Given the description of an element on the screen output the (x, y) to click on. 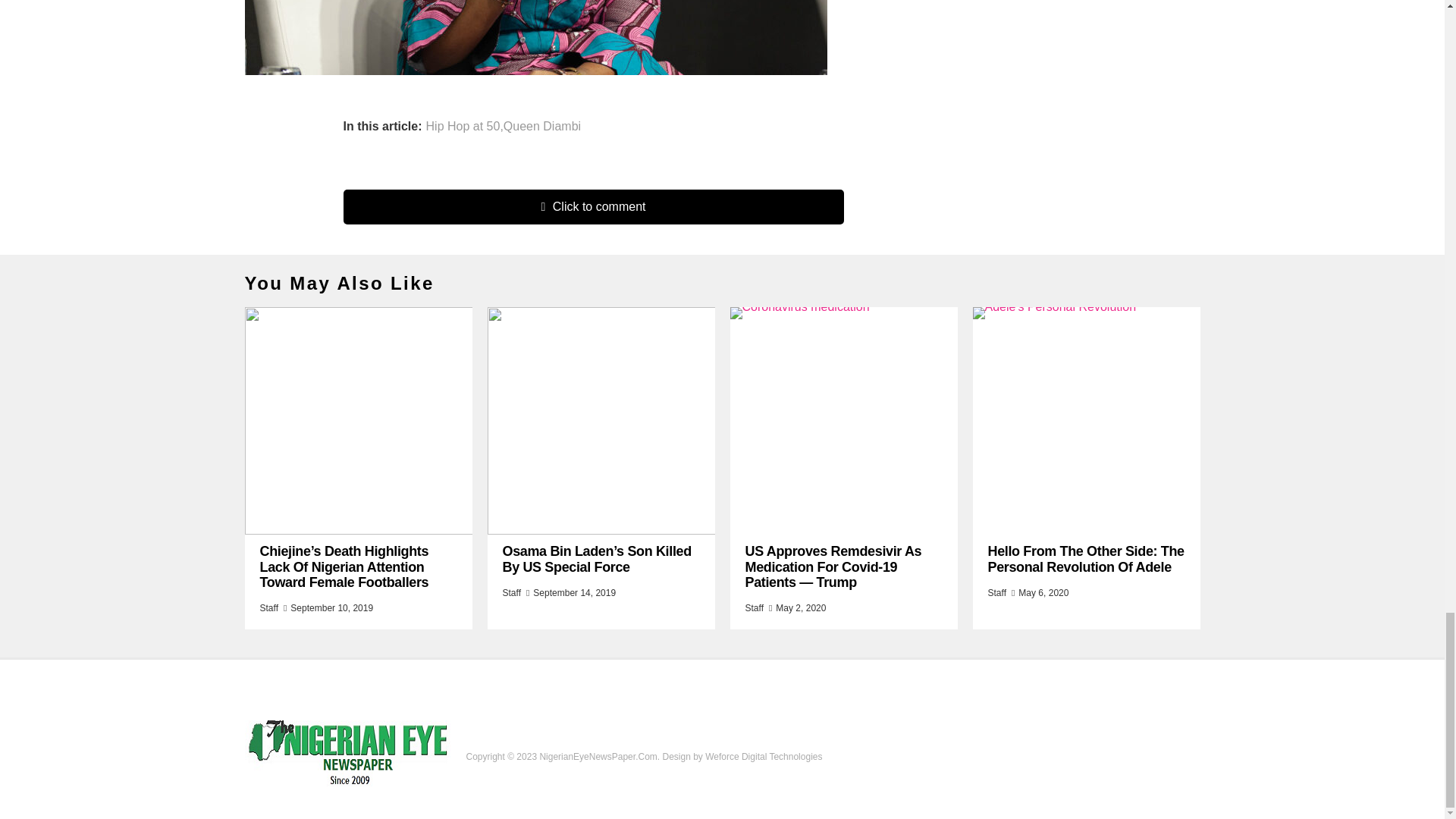
Posts by Staff (268, 607)
Posts by Staff (996, 593)
Posts by Staff (510, 593)
Posts by Staff (753, 607)
